Given the description of an element on the screen output the (x, y) to click on. 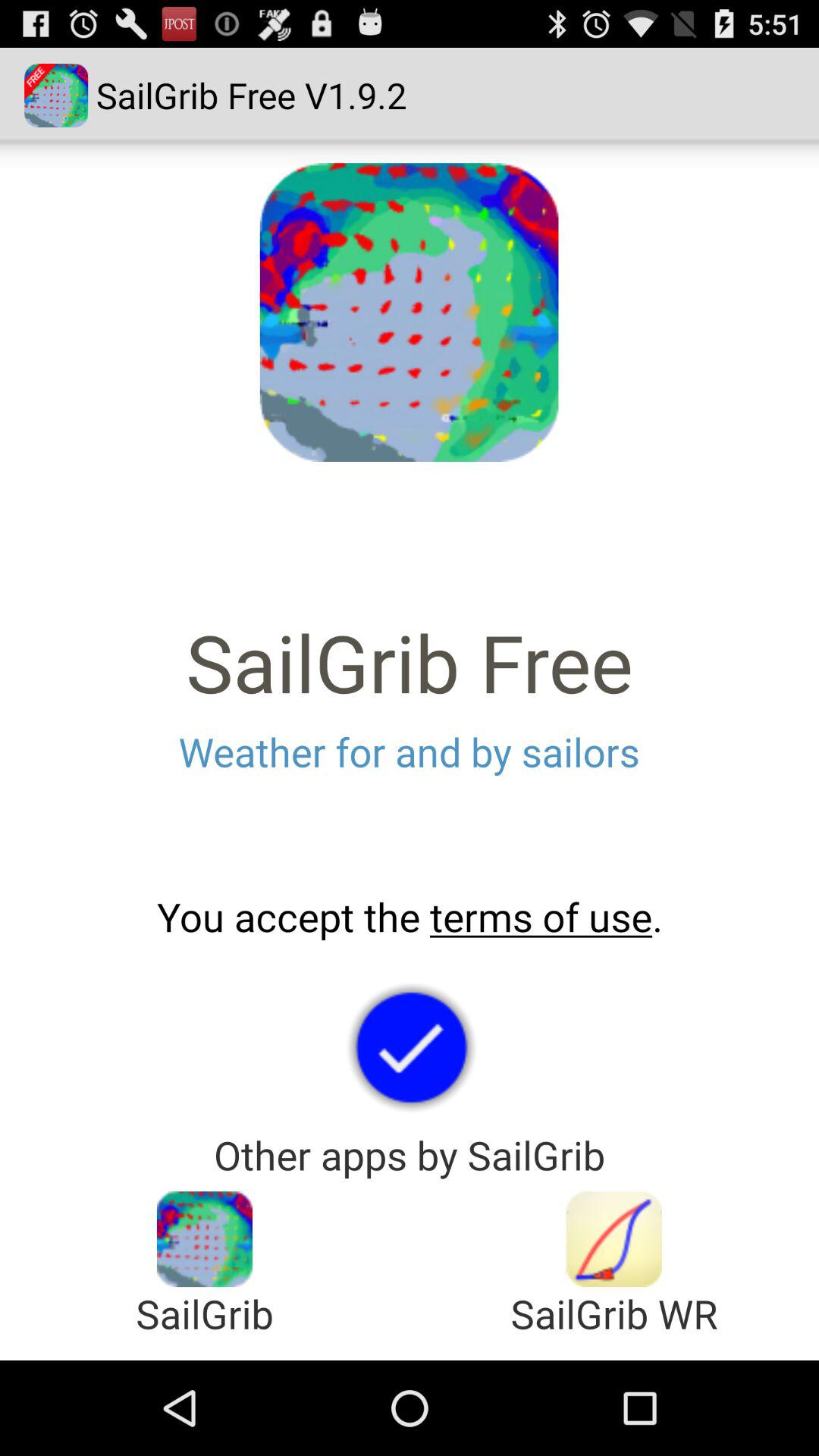
turn off the app below weather for and (409, 916)
